Given the description of an element on the screen output the (x, y) to click on. 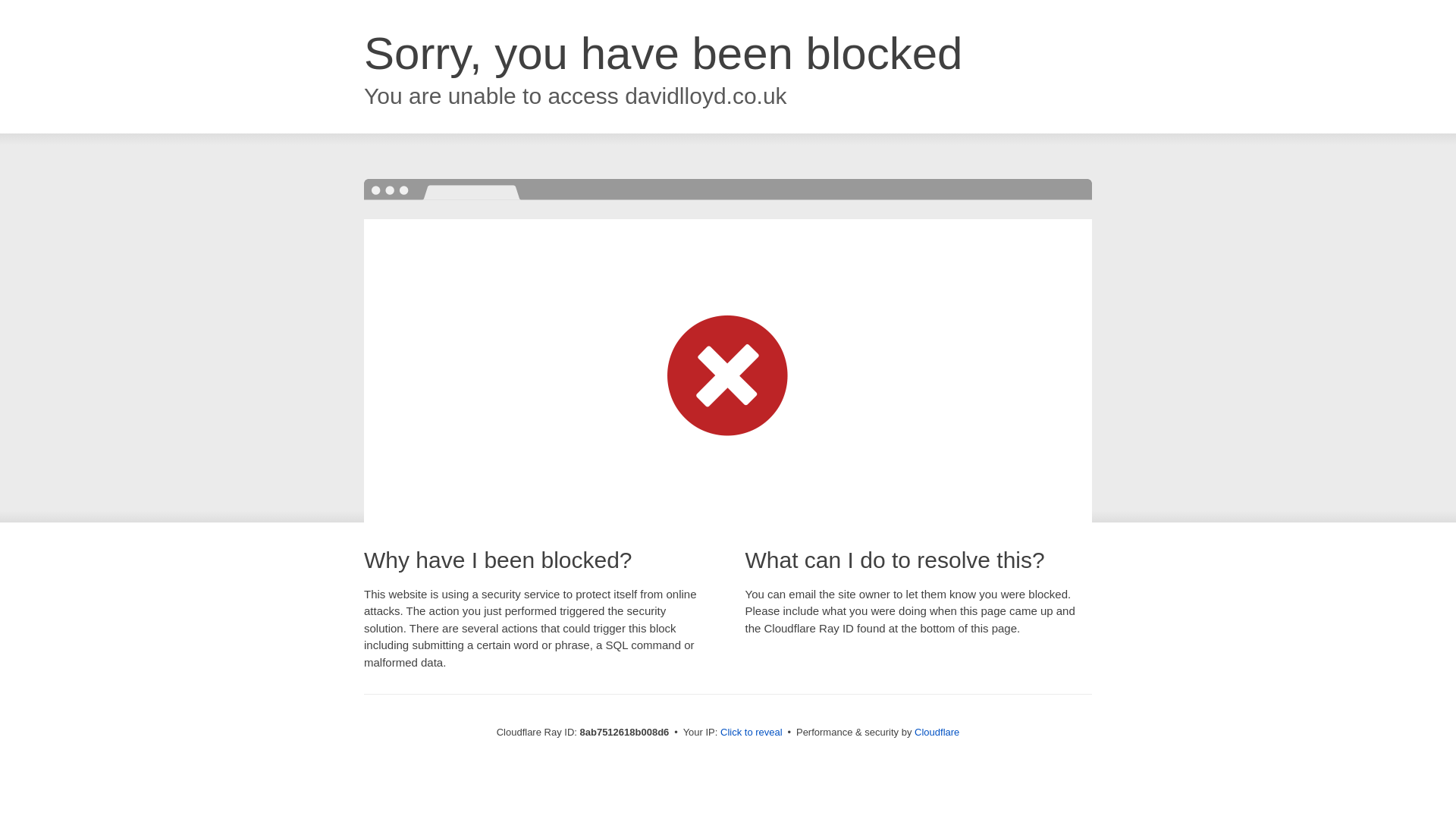
Cloudflare (936, 731)
Click to reveal (751, 732)
